Given the description of an element on the screen output the (x, y) to click on. 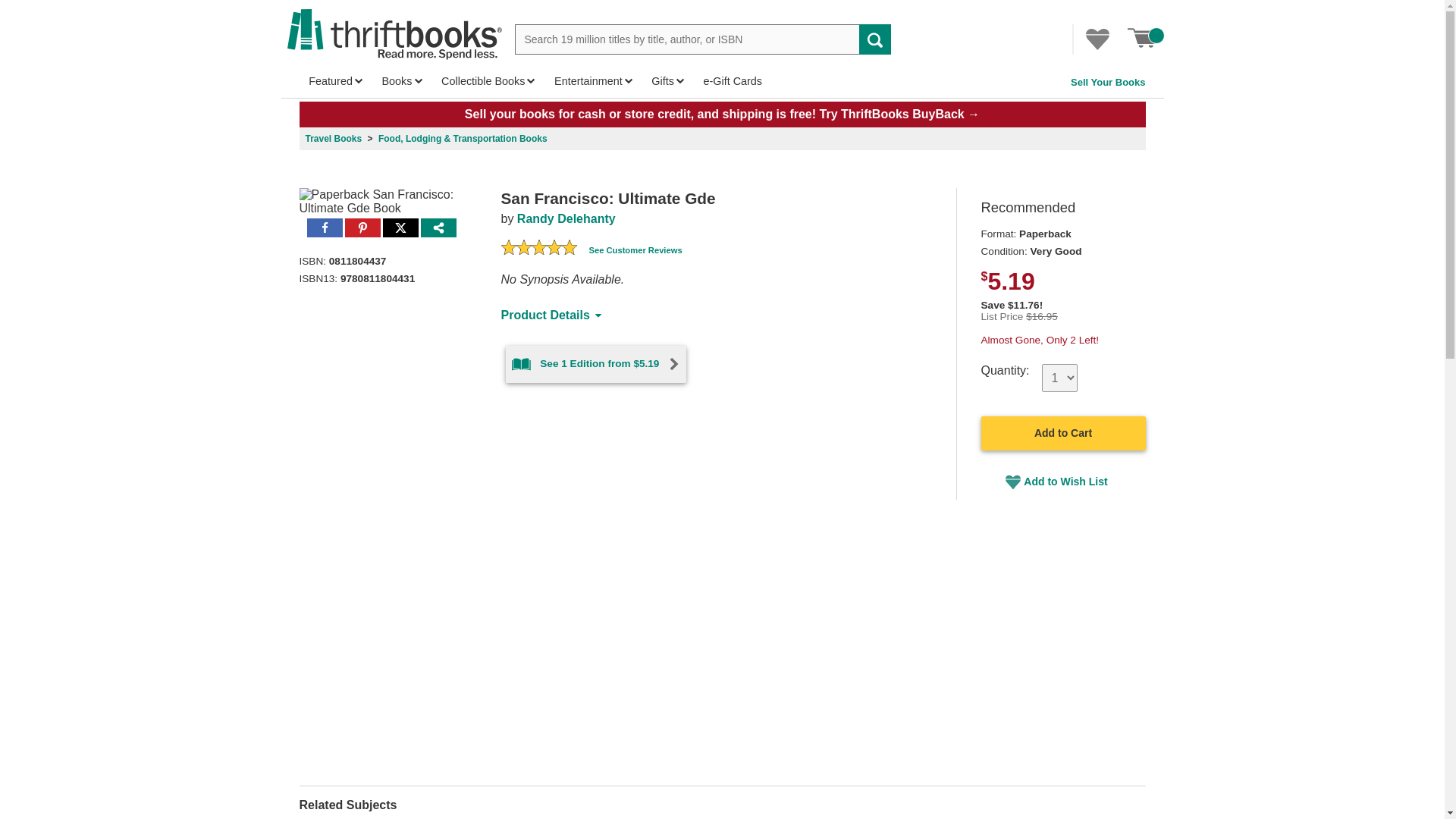
books in your cart (1141, 38)
Log in to rate this book (523, 250)
Log in to rate this book (538, 250)
Log in to rate this book (553, 250)
Books (402, 81)
Log in to rate this book (507, 250)
Log in to rate this book (568, 250)
